Given the description of an element on the screen output the (x, y) to click on. 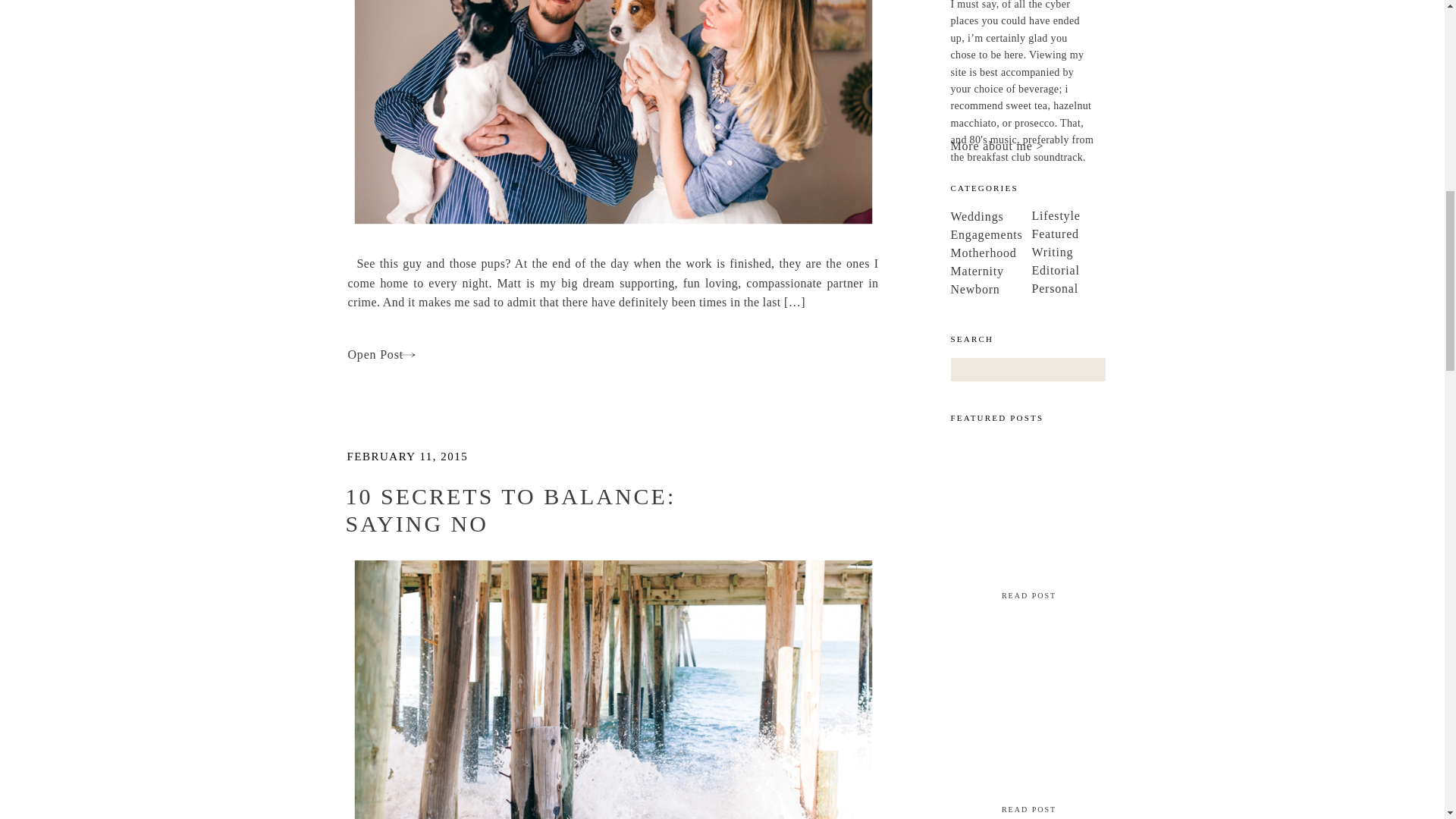
Featured (1102, 231)
Lifestyle (1102, 213)
Personal (1102, 286)
10 Secrets to Balance: Health and Family First (612, 113)
Newborn (1022, 286)
Writing (1102, 249)
10 Secrets to Balance: Health and Family First (404, 352)
Engagements (1022, 232)
Motherhood (1022, 250)
